Given the description of an element on the screen output the (x, y) to click on. 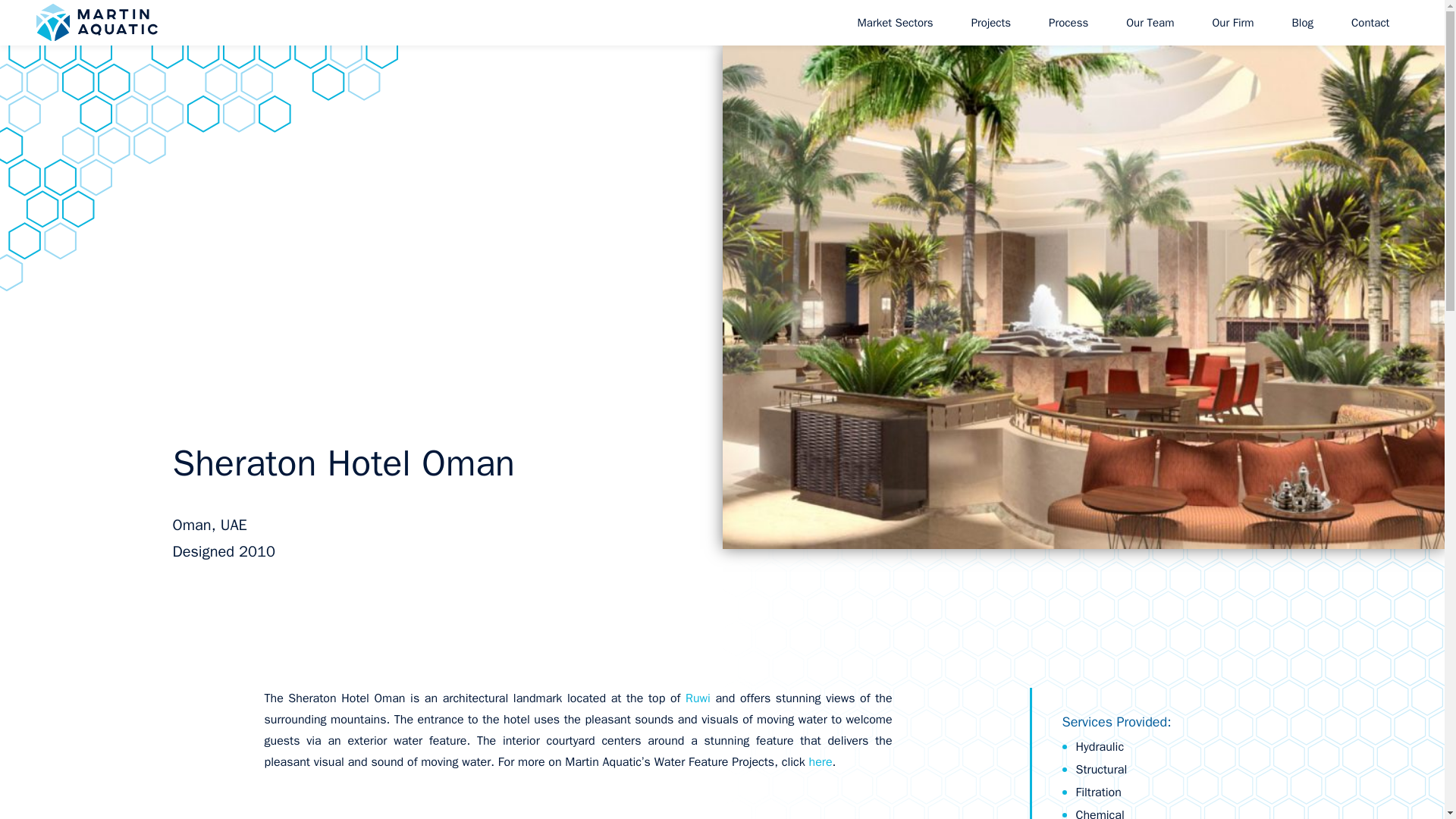
here (820, 761)
Our Firm (1232, 22)
Market Sectors (895, 22)
Projects (1151, 776)
Contact (990, 22)
Blog (1370, 22)
Our Team (1302, 22)
Process (1151, 776)
